Given the description of an element on the screen output the (x, y) to click on. 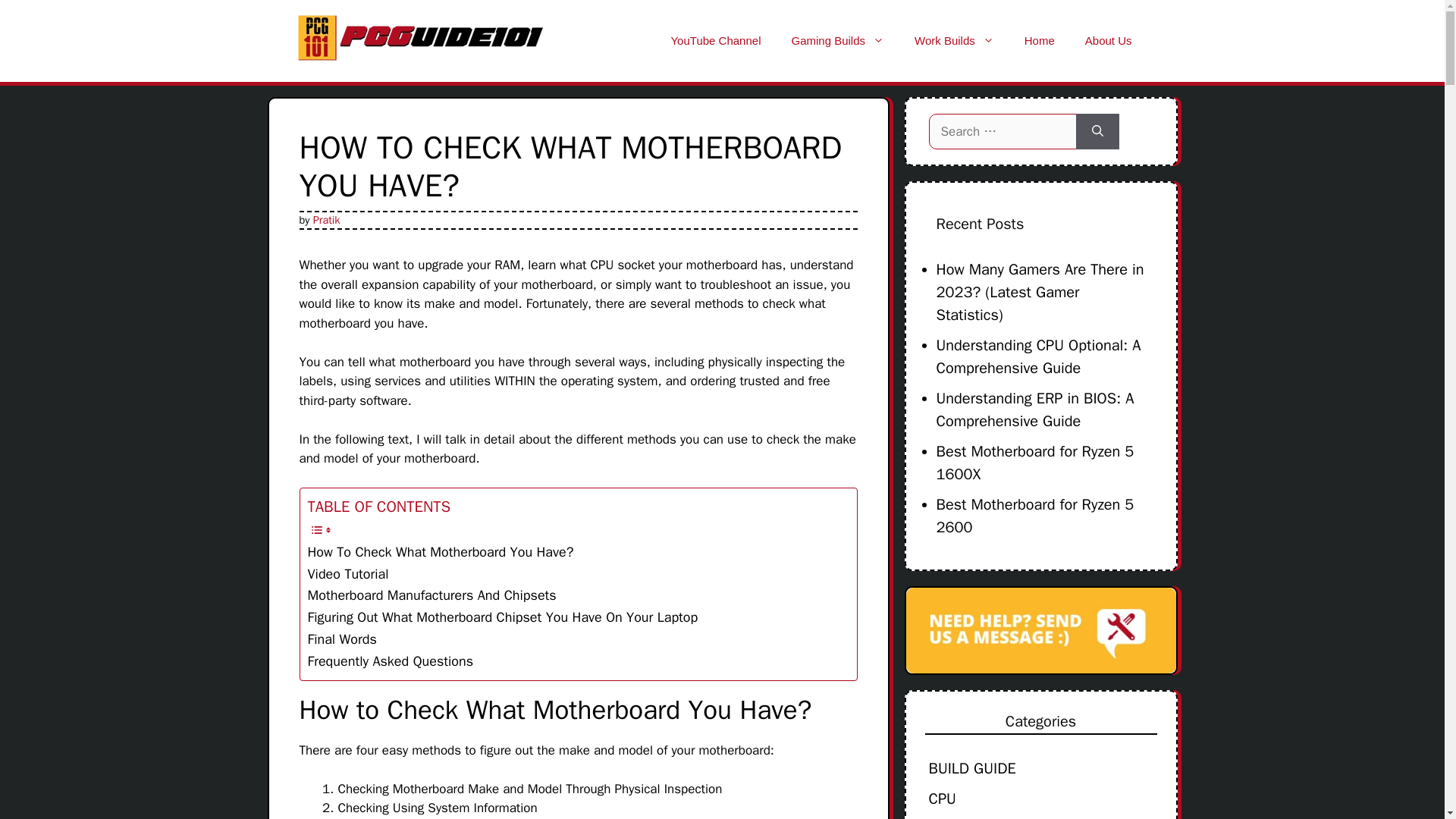
Pratik (326, 219)
About Us (1108, 40)
Work Builds (954, 40)
Motherboard Manufacturers and Chipsets (431, 595)
YouTube Channel (715, 40)
View all posts by Pratik (326, 219)
Frequently Asked Questions (390, 661)
How To Check What Motherboard You Have? (440, 552)
